Given the description of an element on the screen output the (x, y) to click on. 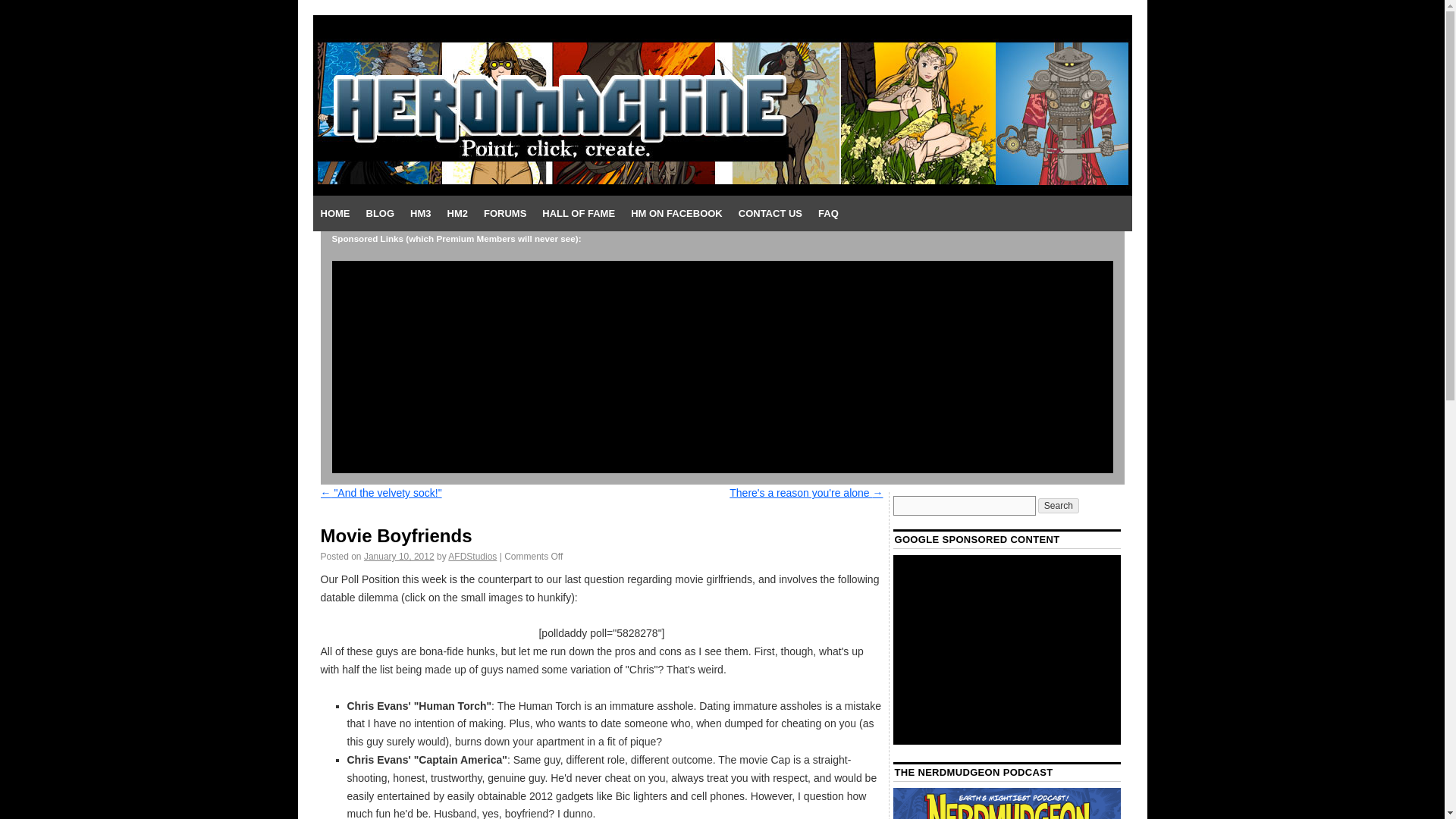
AFDStudios (472, 556)
HALL OF FAME (578, 213)
CONTACT US (769, 213)
Advertisement (1007, 649)
January 10, 2012 (398, 556)
Search (1058, 505)
FAQ (827, 213)
HM3 (420, 213)
8:57 am (398, 556)
HM2 (457, 213)
View all posts by AFDStudios (472, 556)
HM ON FACEBOOK (676, 213)
Search (1058, 505)
HOME (334, 213)
